Given the description of an element on the screen output the (x, y) to click on. 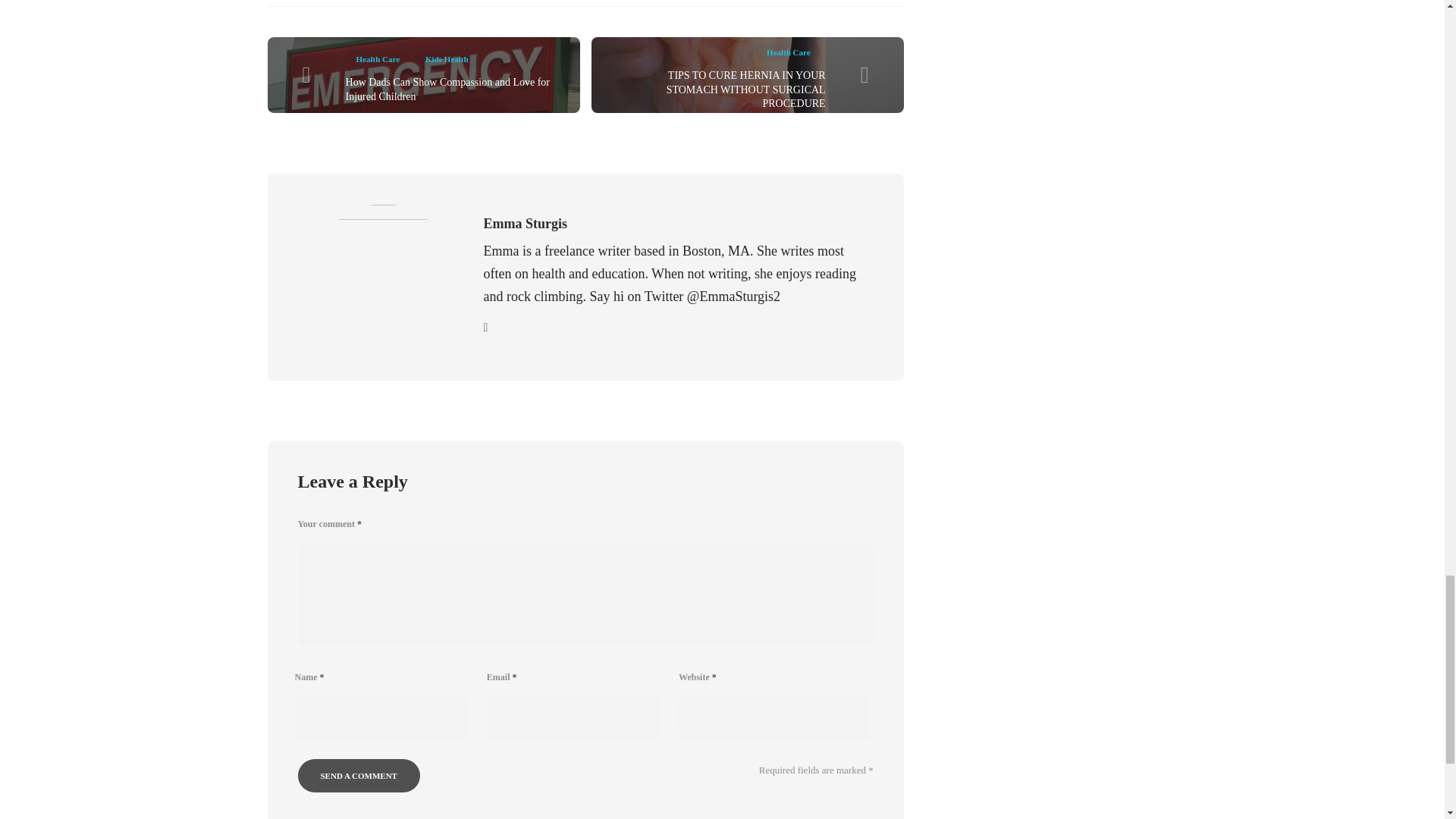
Send a comment (358, 775)
